Given the description of an element on the screen output the (x, y) to click on. 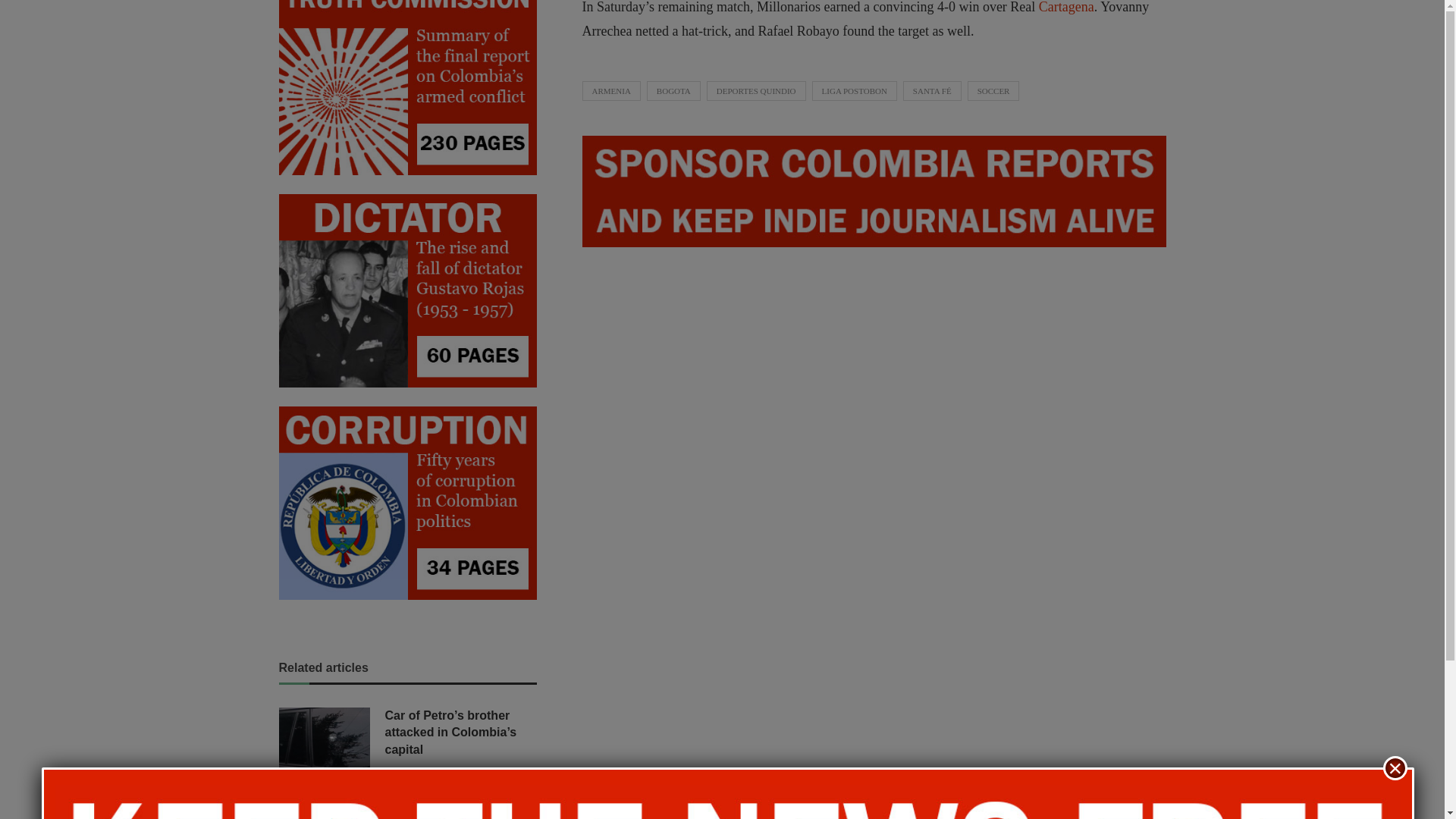
Cartagena, Colombia (1066, 7)
